Given the description of an element on the screen output the (x, y) to click on. 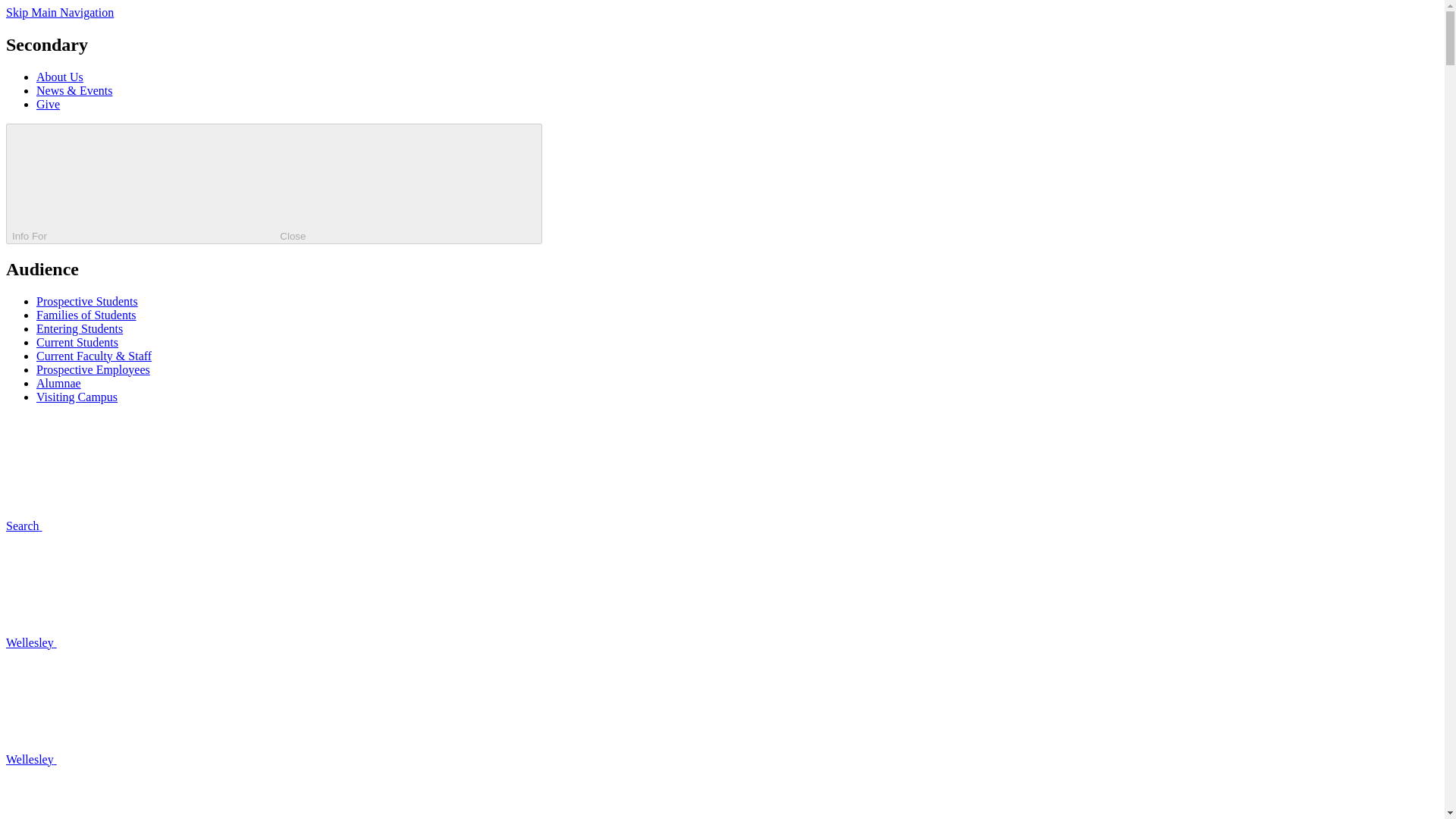
Wellesley (144, 758)
Search (137, 525)
Info For Close (273, 183)
Wellesley (144, 642)
Skip Main Navigation (59, 11)
